Given the description of an element on the screen output the (x, y) to click on. 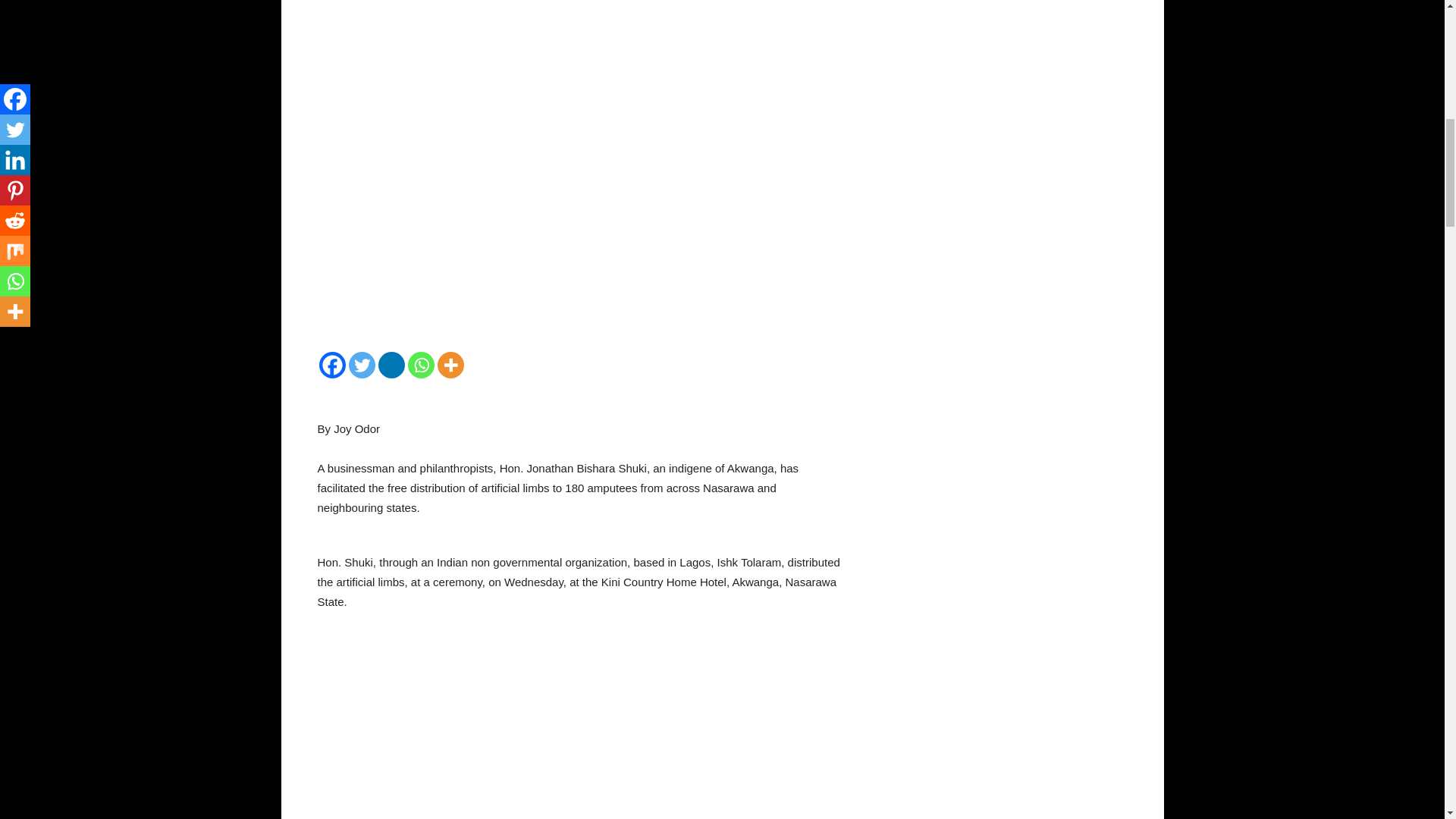
Whatsapp (420, 365)
Twitter (362, 365)
Facebook (331, 365)
More (449, 365)
Linkedin (390, 365)
